Given the description of an element on the screen output the (x, y) to click on. 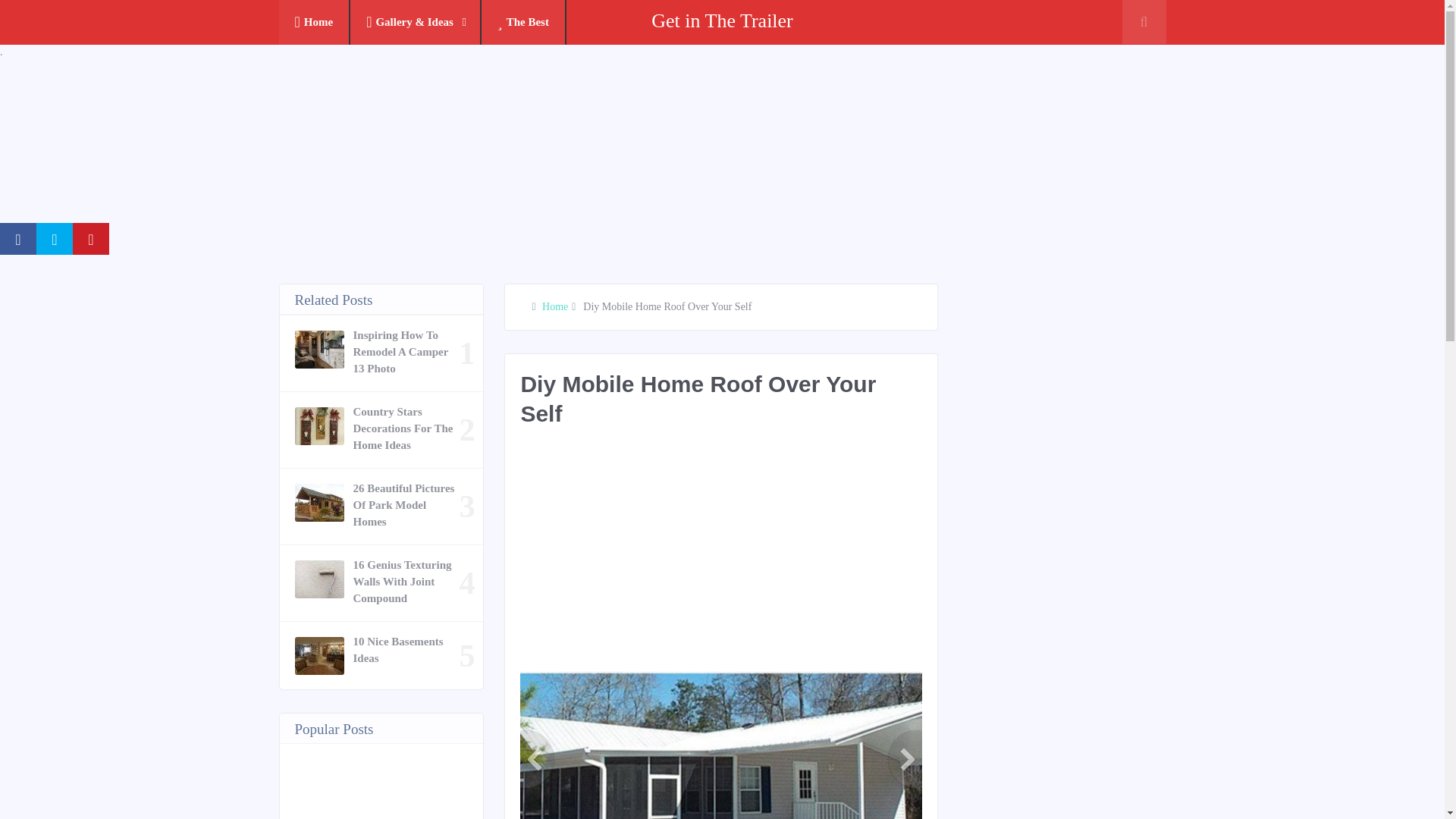
Home (554, 306)
Country Stars Decorations For The Home Ideas (406, 428)
Get in The Trailer (721, 20)
Home (314, 22)
The Best (523, 22)
26 Beautiful Pictures Of Park Model Homes (406, 504)
Advertisement (795, 557)
Inspiring How To Remodel A Camper 13 Photo (406, 351)
16 Genius Texturing Walls With Joint Compound (406, 581)
